Given the description of an element on the screen output the (x, y) to click on. 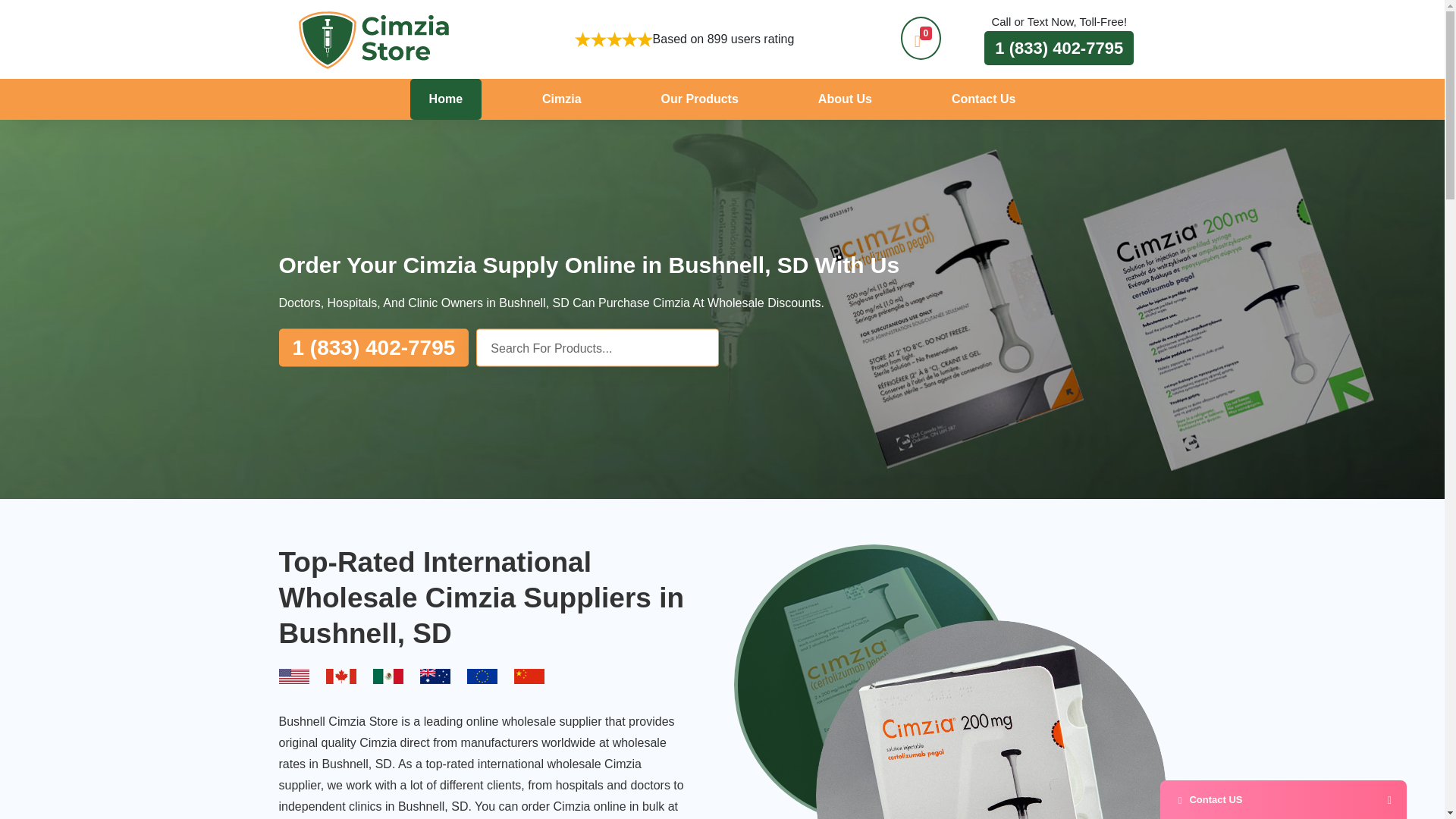
0 (921, 37)
Cimzia (560, 98)
Our Products (699, 98)
Search For Products... (597, 347)
Home (445, 98)
About Us (845, 98)
Contact Us (983, 98)
